Given the description of an element on the screen output the (x, y) to click on. 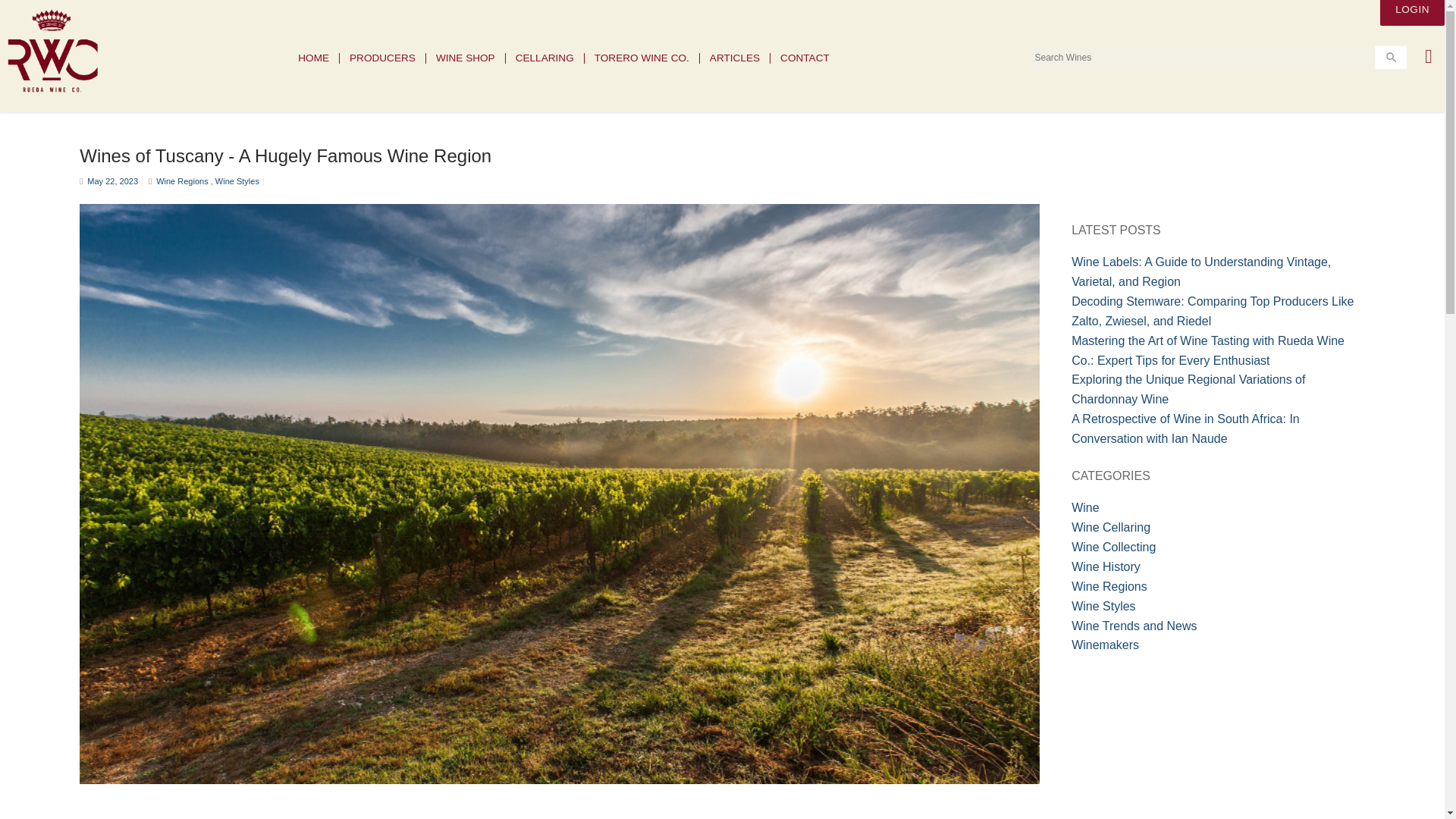
PRODUCERS (382, 58)
View all posts in Wine Styles (237, 180)
Wine (1085, 507)
Wine Styles (237, 180)
TORERO WINE CO. (642, 58)
View all posts in Wine Regions (183, 180)
CONTACT (805, 58)
Wine Cellaring (1110, 526)
HOME (313, 58)
